Given the description of an element on the screen output the (x, y) to click on. 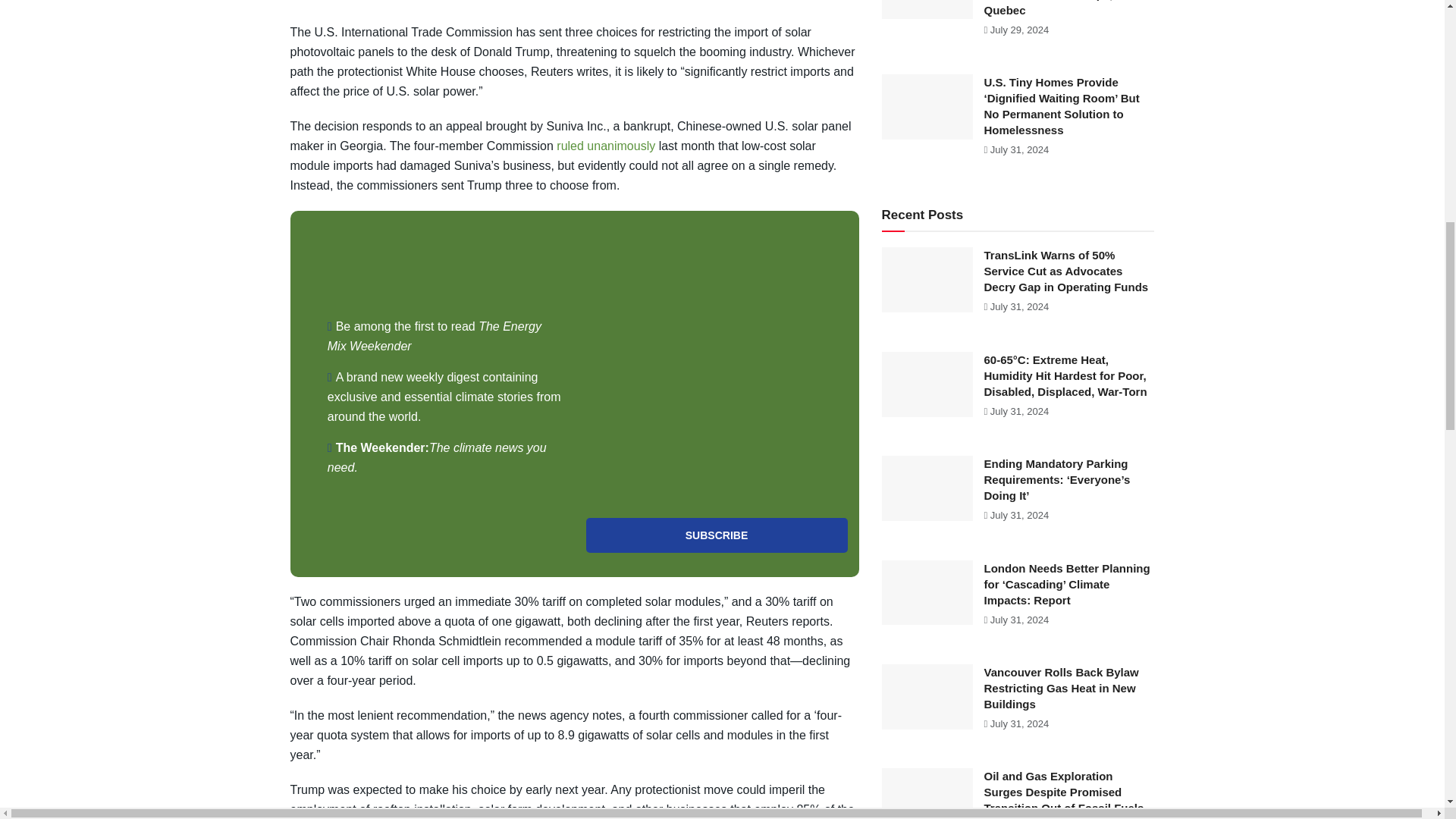
TEM-WeekenderLight (716, 364)
The Energy Mix Weekender (434, 336)
Subscribe (716, 534)
ruled unanimously (605, 145)
